Given the description of an element on the screen output the (x, y) to click on. 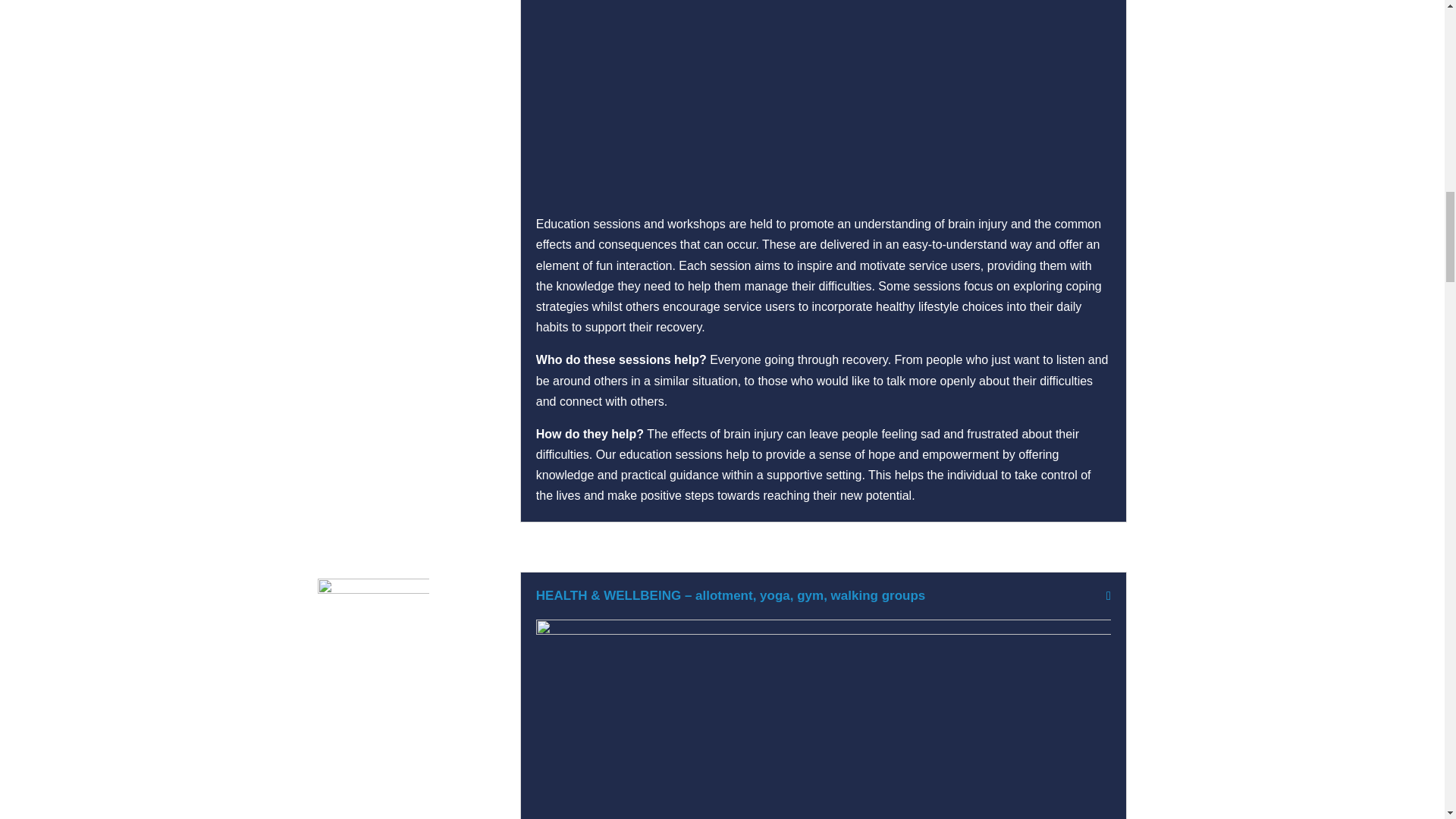
Yoga,-gym,-walking-iconnew (373, 633)
